Given the description of an element on the screen output the (x, y) to click on. 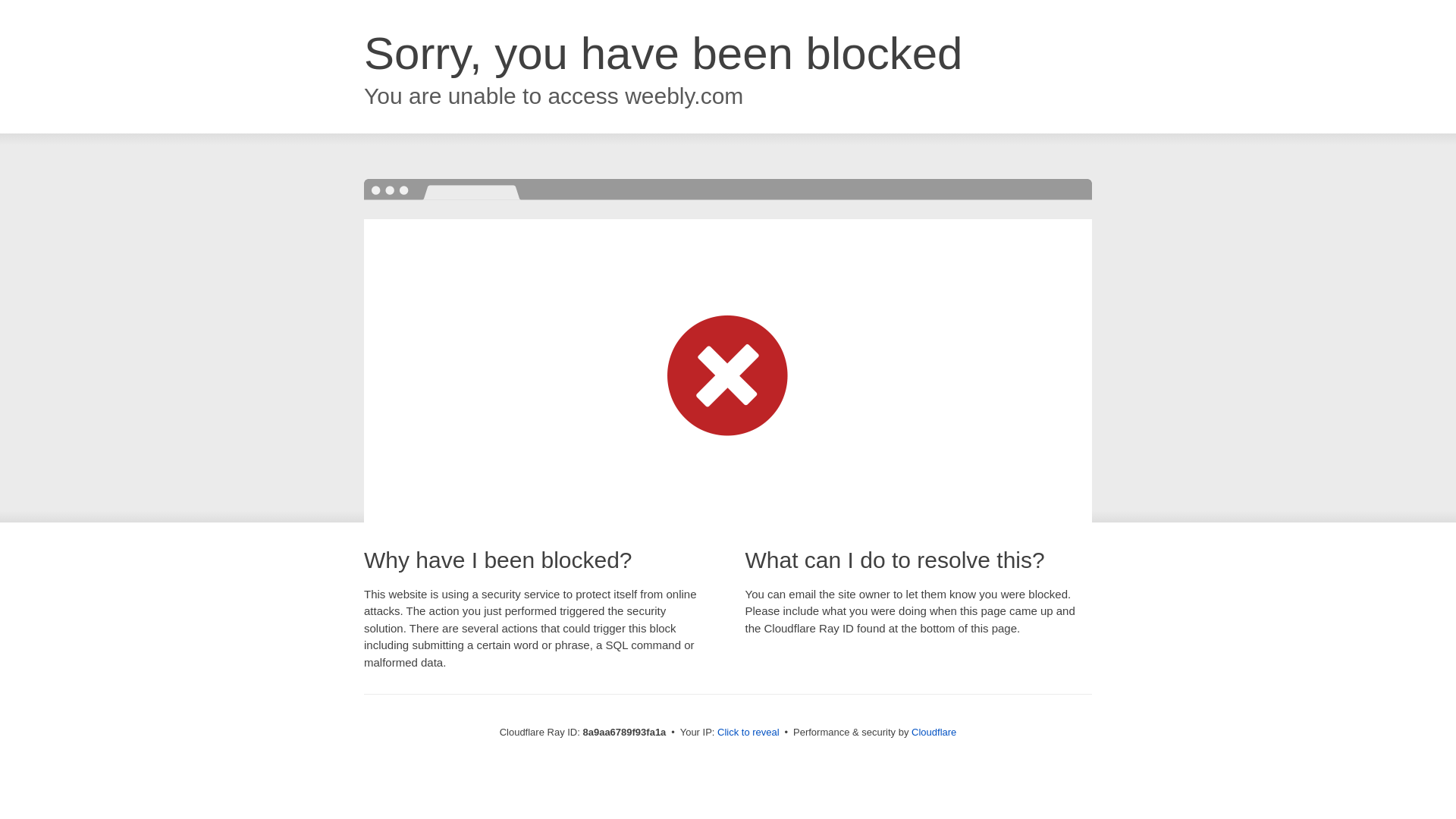
Cloudflare (933, 731)
Click to reveal (747, 732)
